Given the description of an element on the screen output the (x, y) to click on. 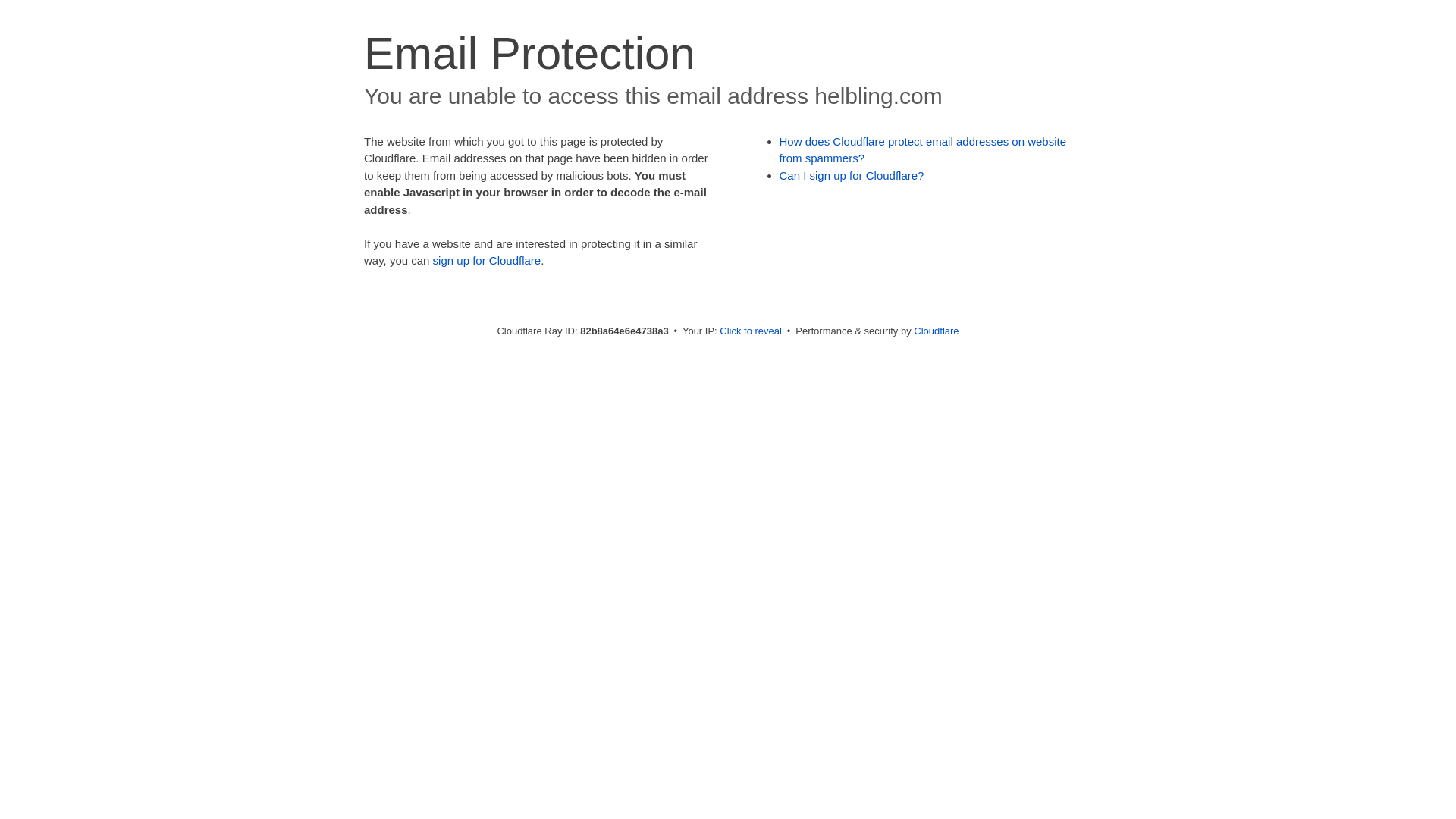
sign up for Cloudflare Element type: text (487, 260)
Cloudflare Element type: text (935, 330)
Click to reveal Element type: text (750, 330)
Can I sign up for Cloudflare? Element type: text (851, 175)
